Given the description of an element on the screen output the (x, y) to click on. 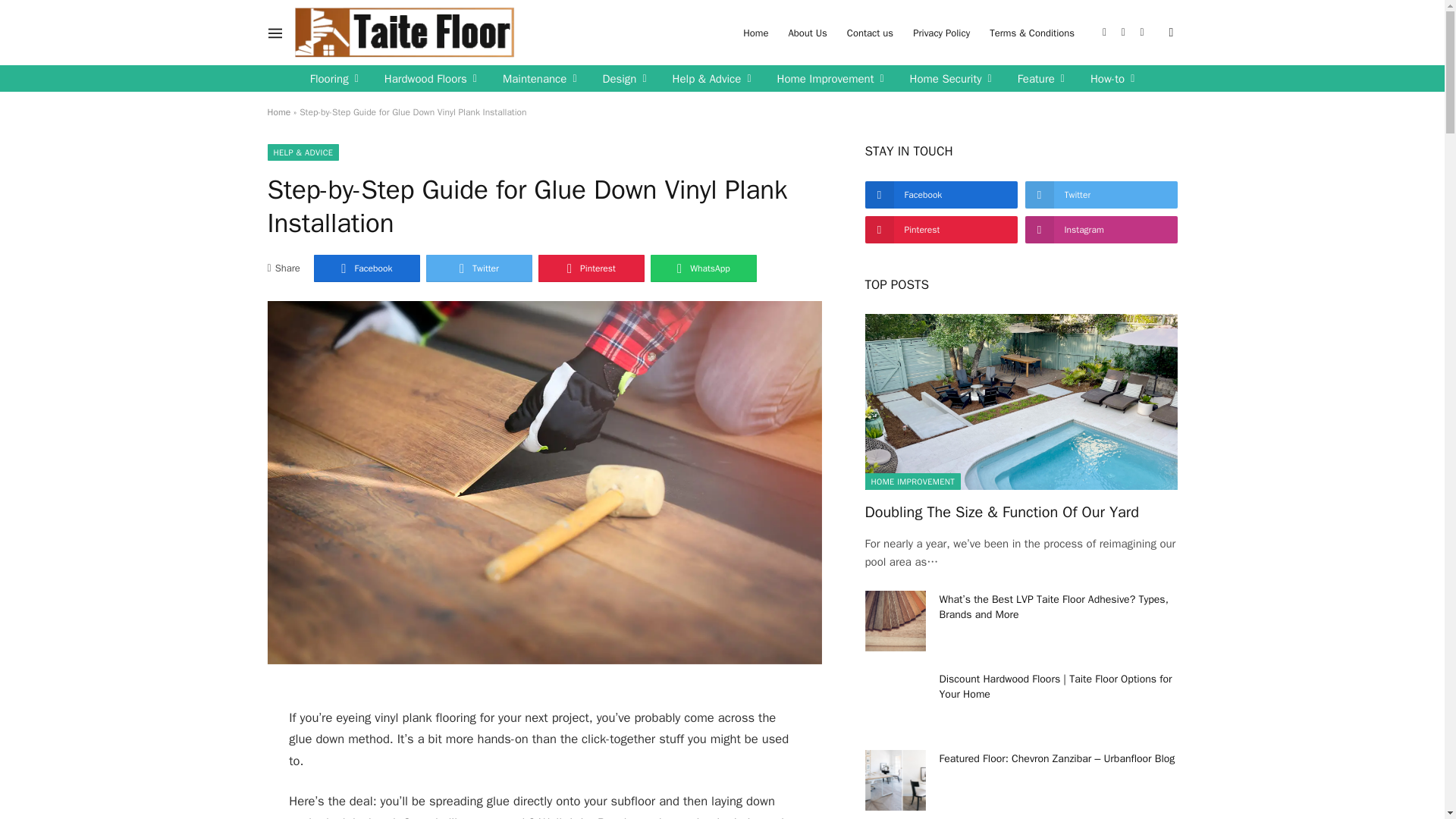
Privacy Policy (940, 32)
Switch to Dark Design - easier on eyes. (1168, 32)
About Us (806, 32)
Contact us (869, 32)
Flooring (334, 78)
Taite Floor (404, 32)
